Given the description of an element on the screen output the (x, y) to click on. 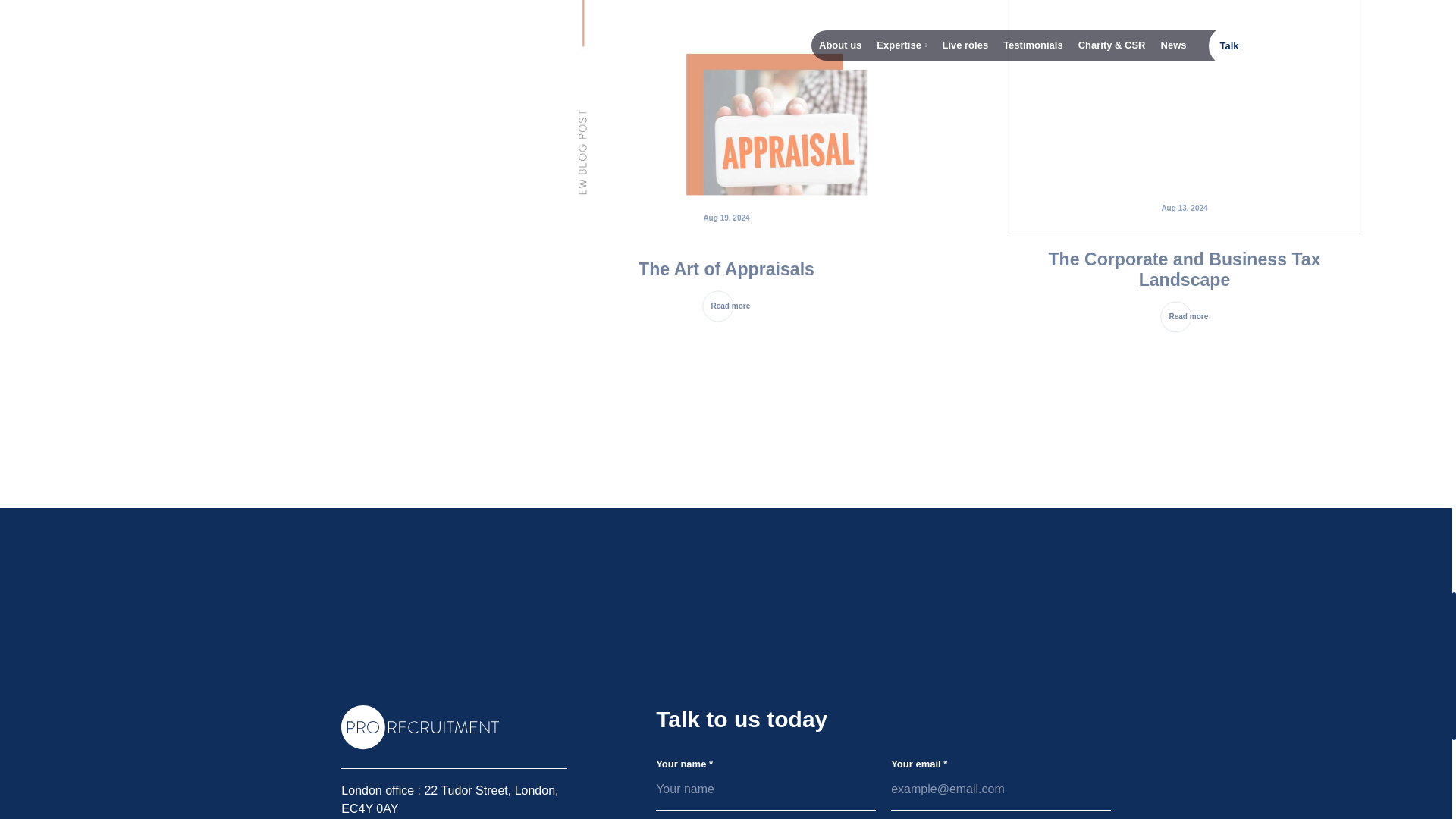
Read more (1190, 321)
Read more (731, 311)
